Given the description of an element on the screen output the (x, y) to click on. 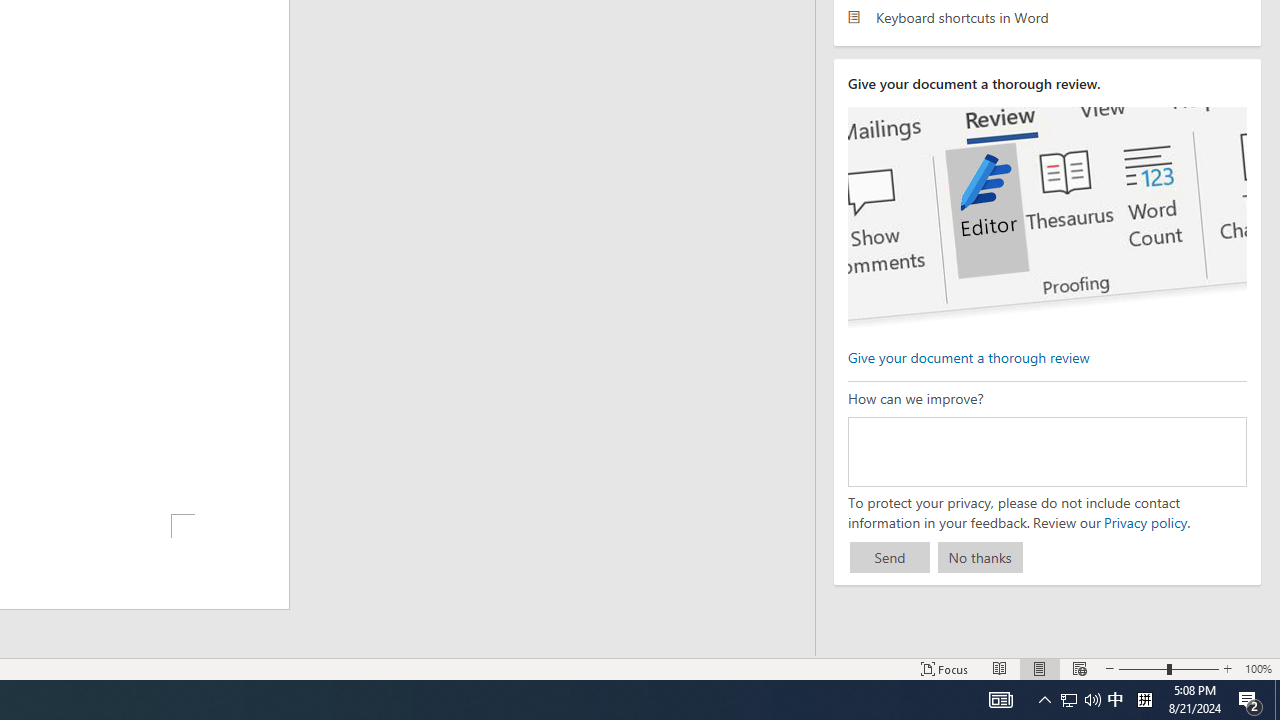
Give your document a thorough review (968, 356)
editor ui screenshot (1046, 218)
How can we improve? (1046, 451)
Send (889, 557)
Zoom 100% (1258, 668)
No thanks (980, 557)
Privacy policy (1144, 522)
Keyboard shortcuts in Word (1047, 16)
